Given the description of an element on the screen output the (x, y) to click on. 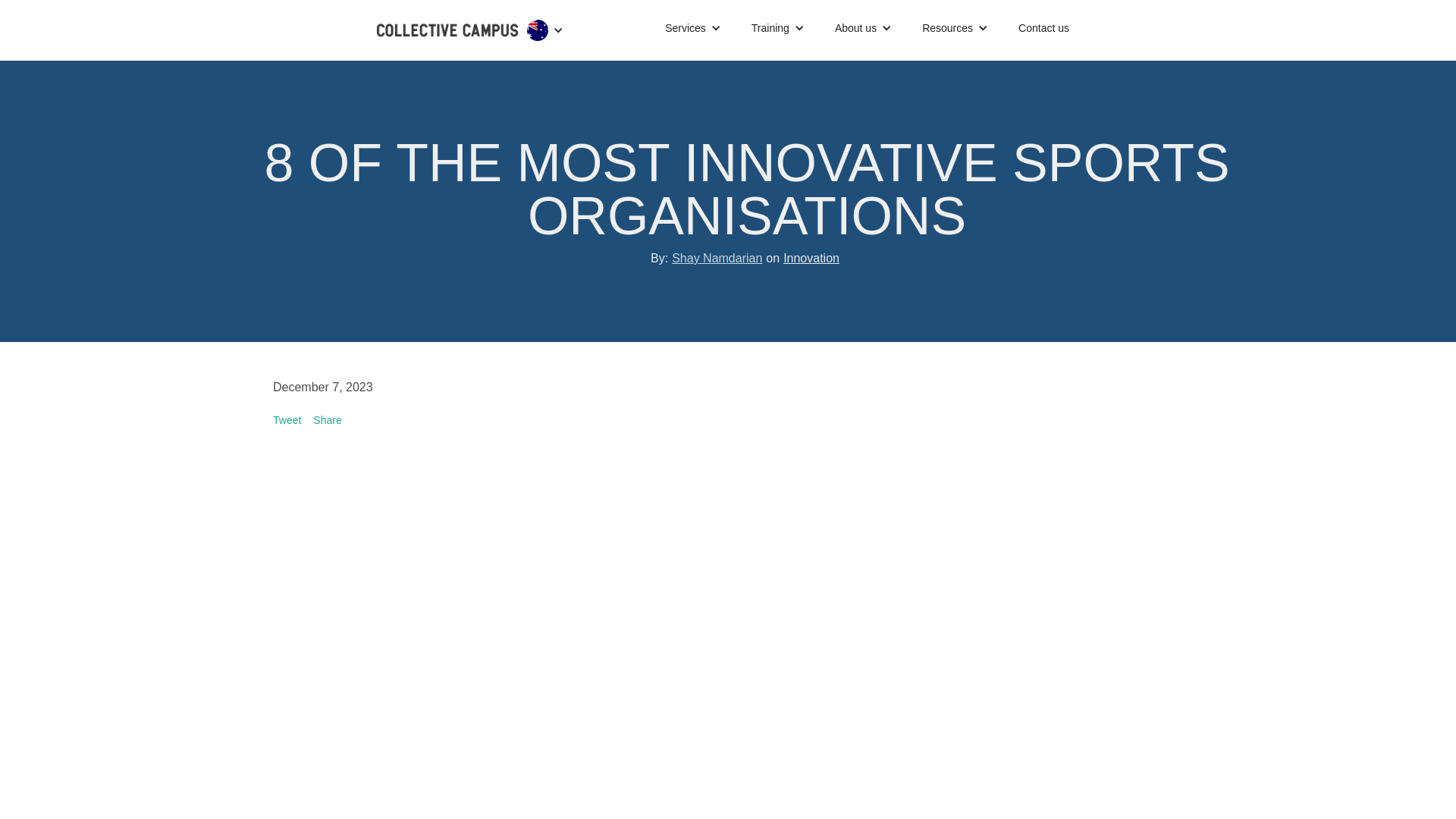
Innovation (811, 258)
Contact us (1043, 28)
Shay Namdarian (716, 258)
Tweet (287, 419)
Share (326, 419)
